Given the description of an element on the screen output the (x, y) to click on. 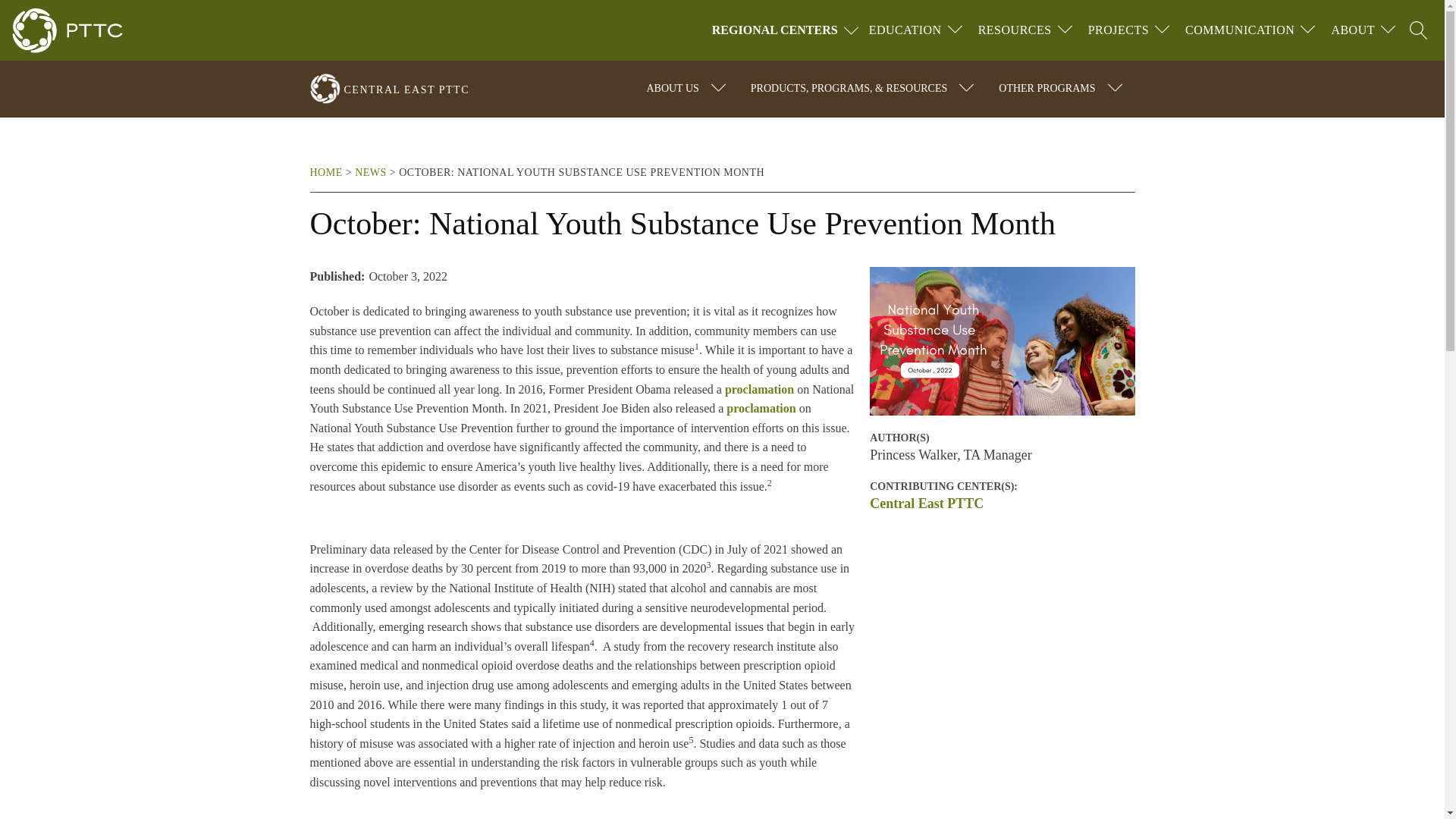
REGIONAL CENTERS (787, 30)
RESOURCES (1015, 30)
PROJECTS (1117, 30)
EDUCATION (905, 30)
